Given the description of an element on the screen output the (x, y) to click on. 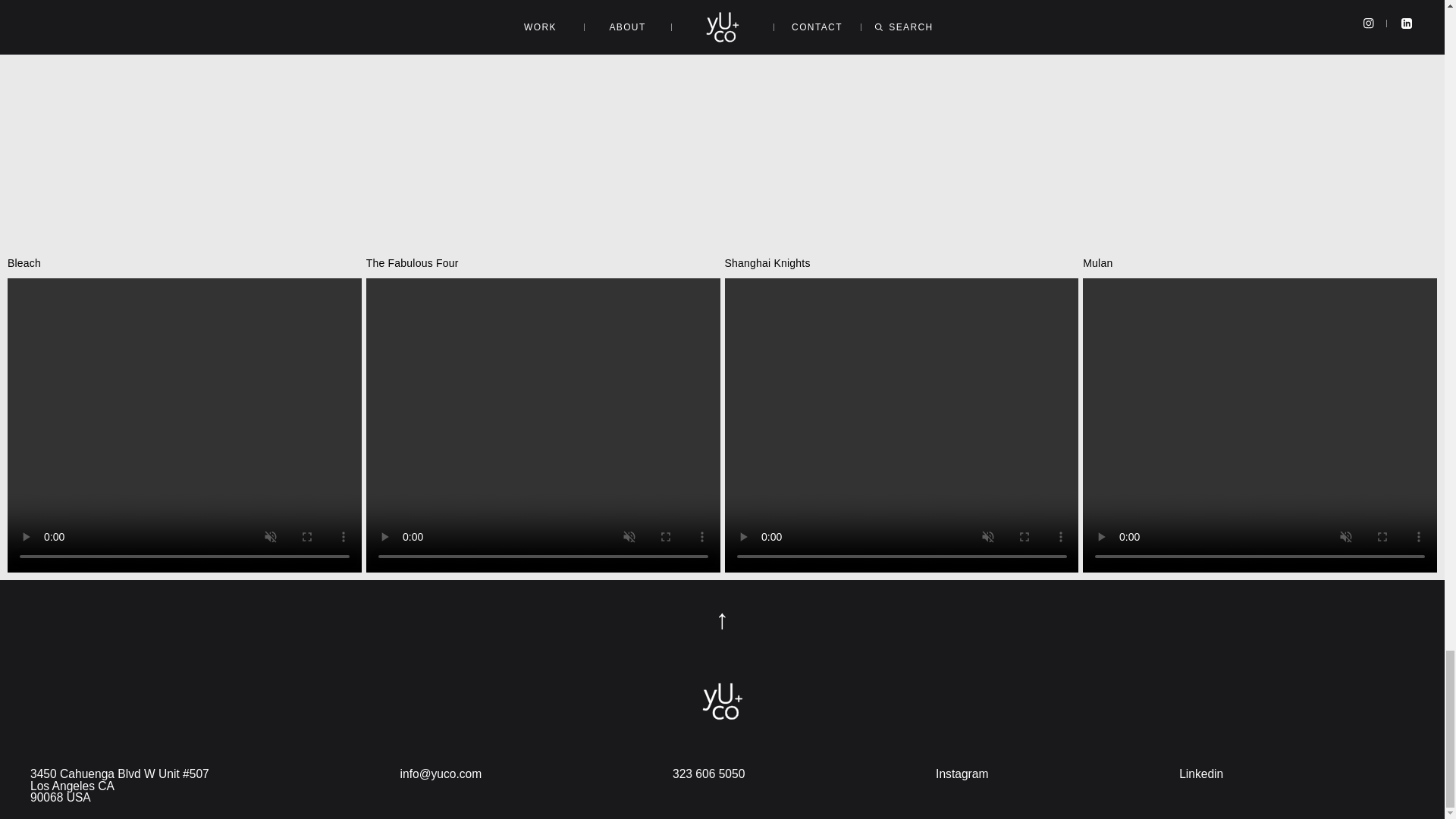
Bleach (184, 413)
The Fabulous Four (543, 413)
Shanghai Knights (901, 413)
Mulan (1260, 413)
